Given the description of an element on the screen output the (x, y) to click on. 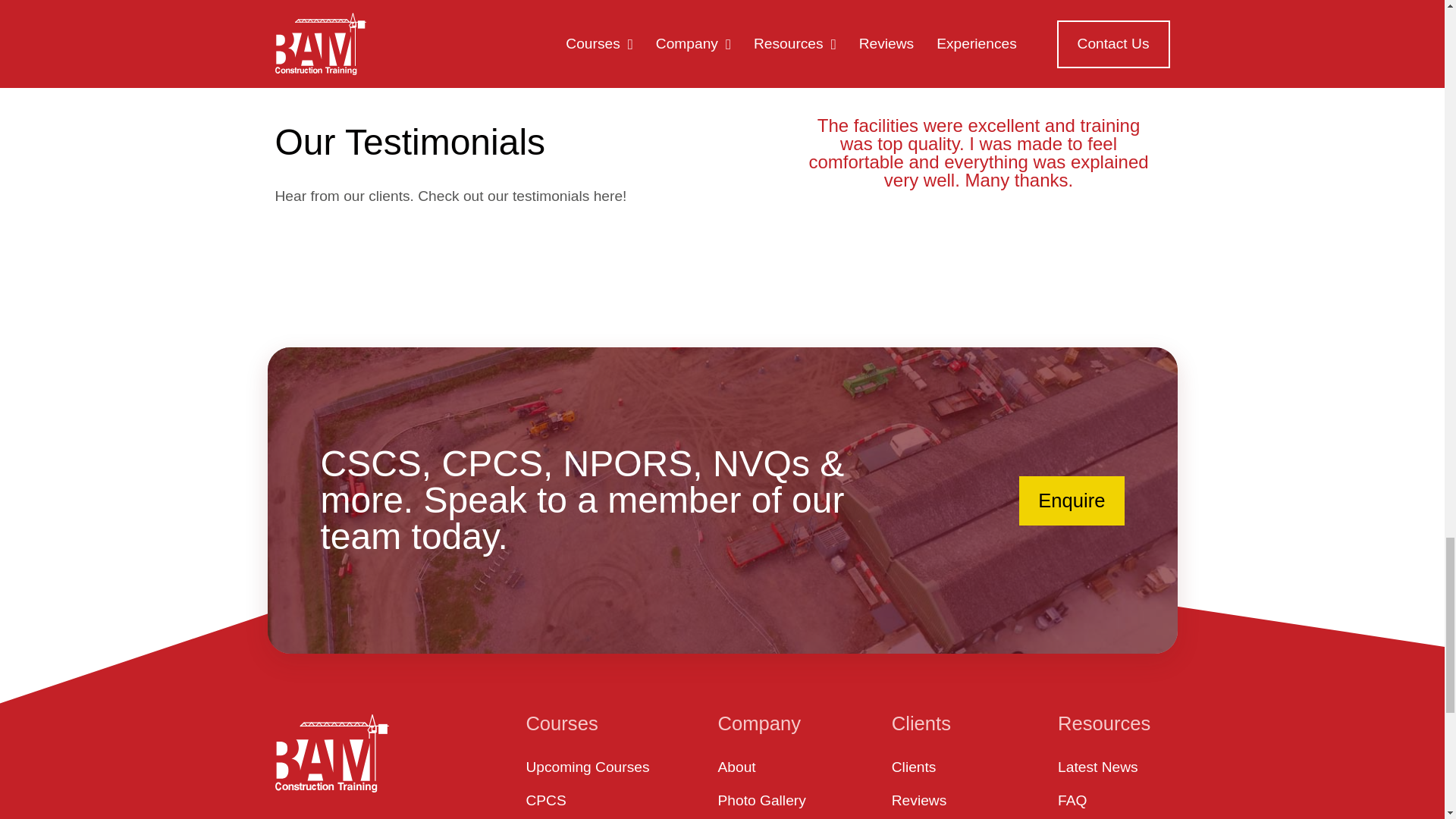
Hear from our clients. Check out our testimonials here! (478, 196)
Hear from our clients. Check out our testimonials here! (478, 196)
